Given the description of an element on the screen output the (x, y) to click on. 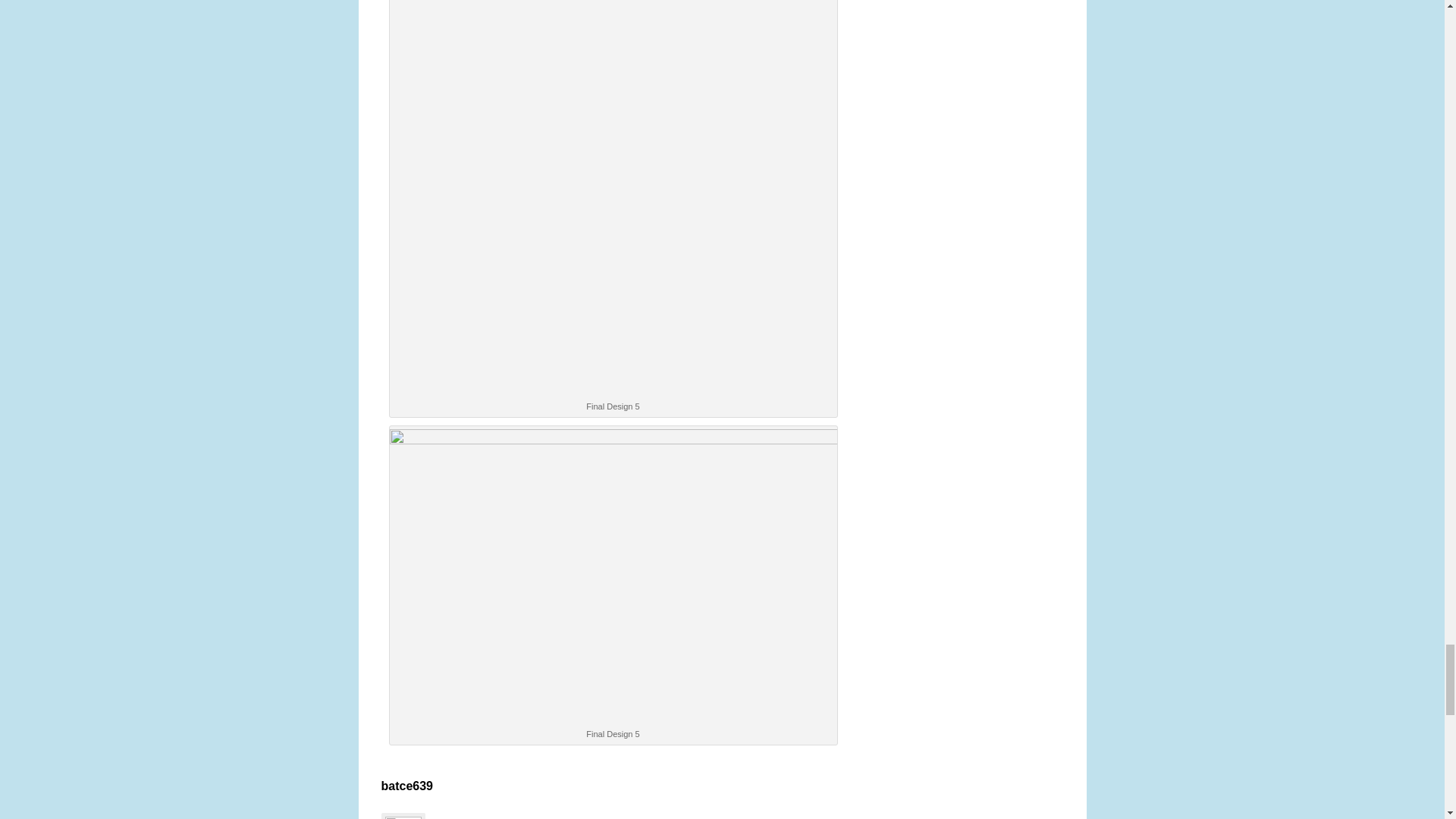
Posts by batce639 (406, 785)
